Given the description of an element on the screen output the (x, y) to click on. 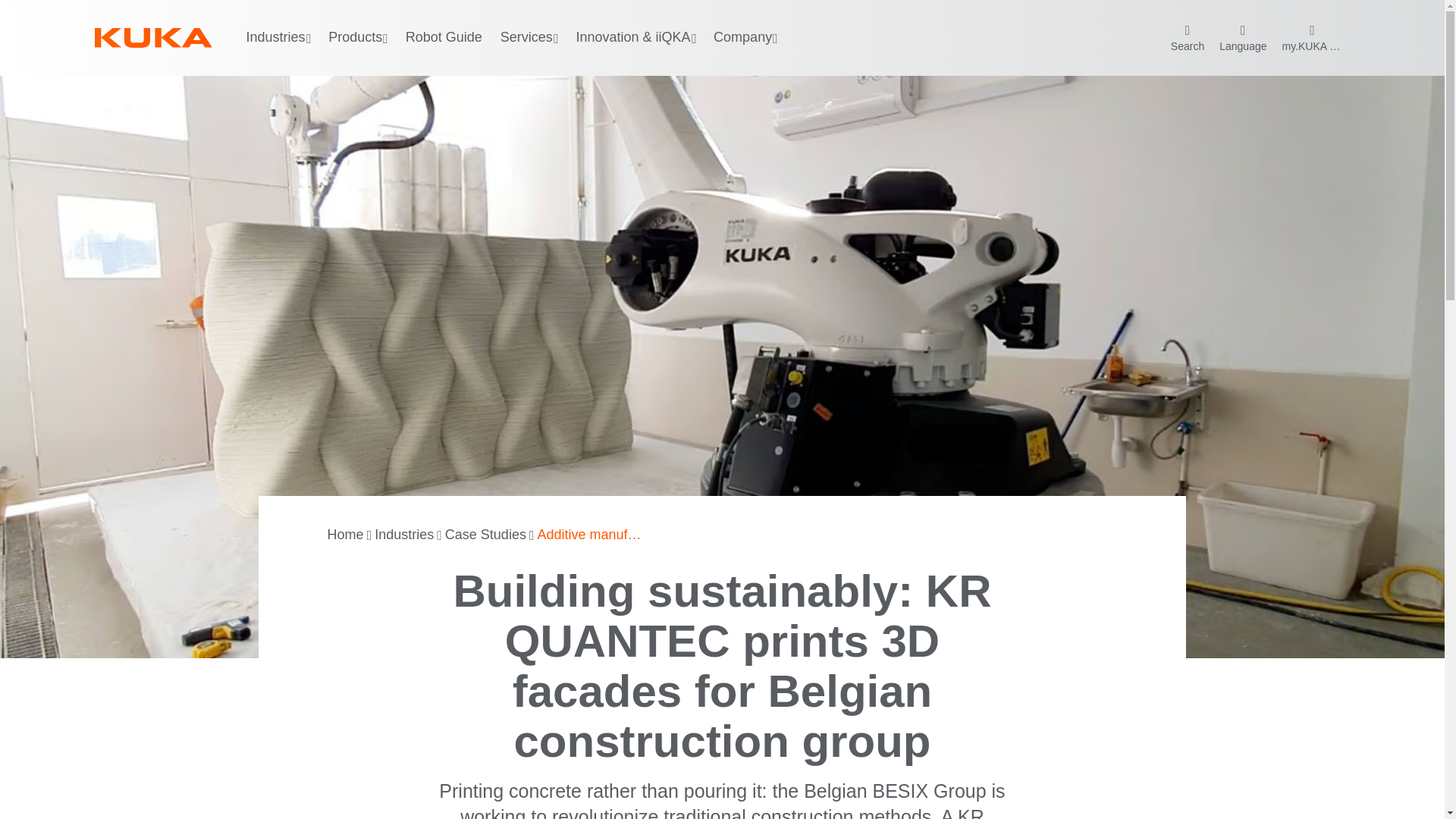
Industries (403, 535)
Home (345, 535)
Additive manufacturing BESIX 3D (591, 535)
Case Studies (485, 535)
